Given the description of an element on the screen output the (x, y) to click on. 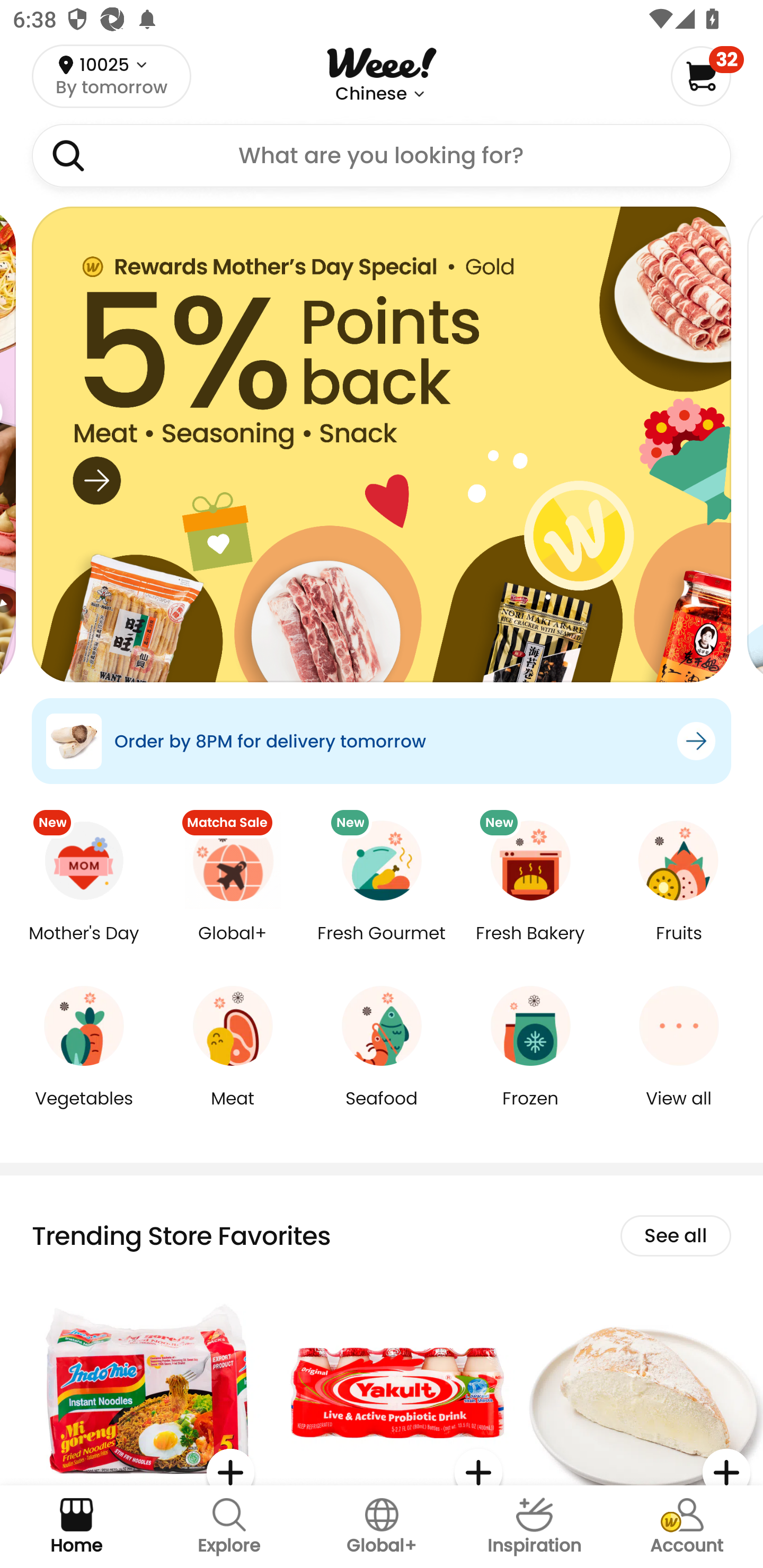
10025 By tomorrow (111, 75)
32 (706, 75)
Chinese (370, 93)
What are you looking for? (381, 155)
Order by 8PM for delivery tomorrow (381, 740)
Mother's Day (83, 946)
Global+ (232, 946)
Fresh Gourmet (381, 946)
Fresh Bakery (530, 946)
Fruits (678, 946)
Vegetables (83, 1111)
Meat (232, 1111)
Seafood (381, 1111)
Frozen (530, 1111)
View all (678, 1111)
Home (76, 1526)
Explore (228, 1526)
Global+ (381, 1526)
Inspiration (533, 1526)
Account (686, 1526)
